Given the description of an element on the screen output the (x, y) to click on. 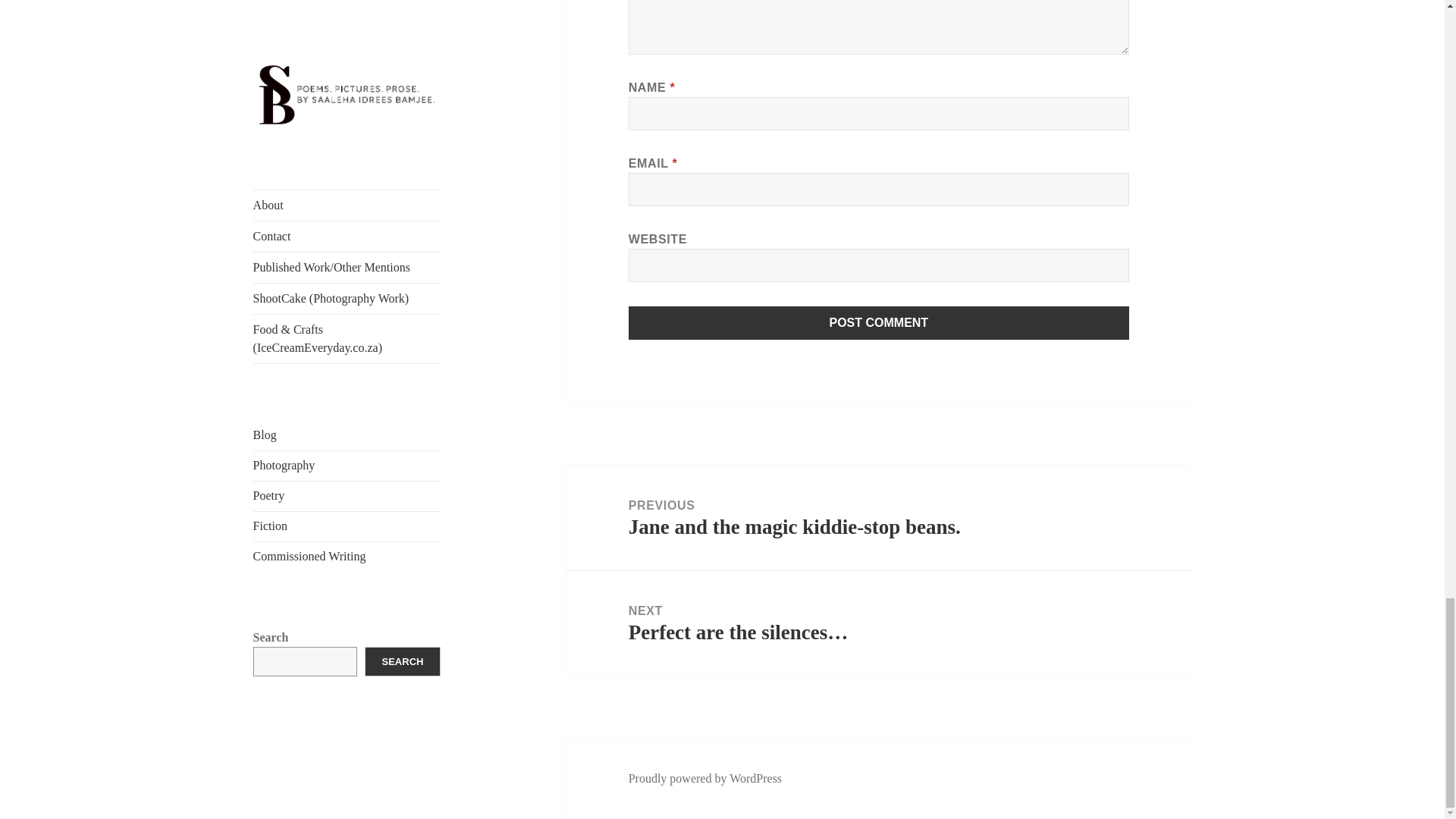
Proudly powered by WordPress (704, 778)
Post Comment (878, 322)
Post Comment (878, 322)
